Given the description of an element on the screen output the (x, y) to click on. 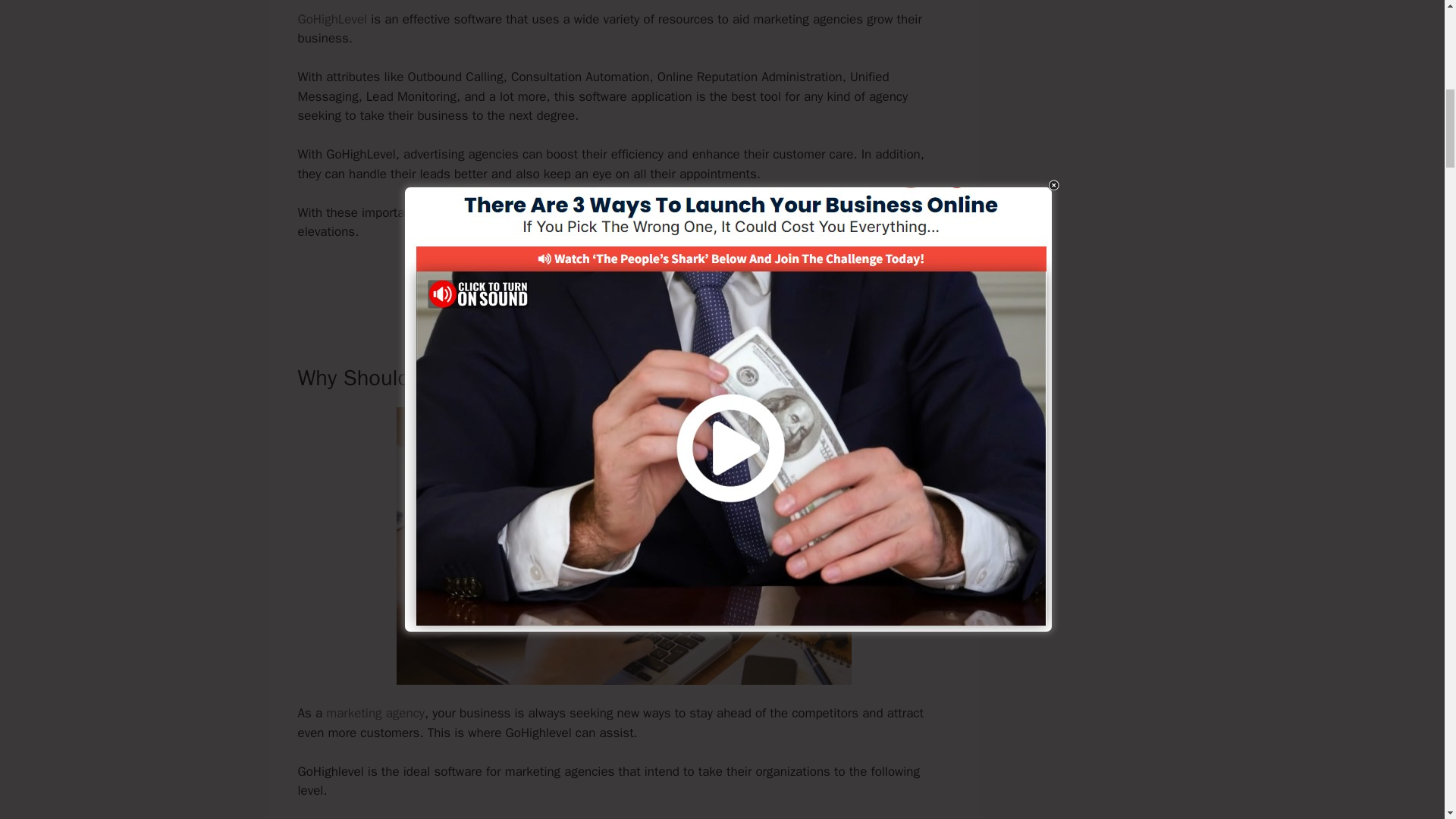
GoHighLevel (331, 19)
marketing agency (375, 713)
Visit Here To See HighLevel In Action (623, 283)
